Given the description of an element on the screen output the (x, y) to click on. 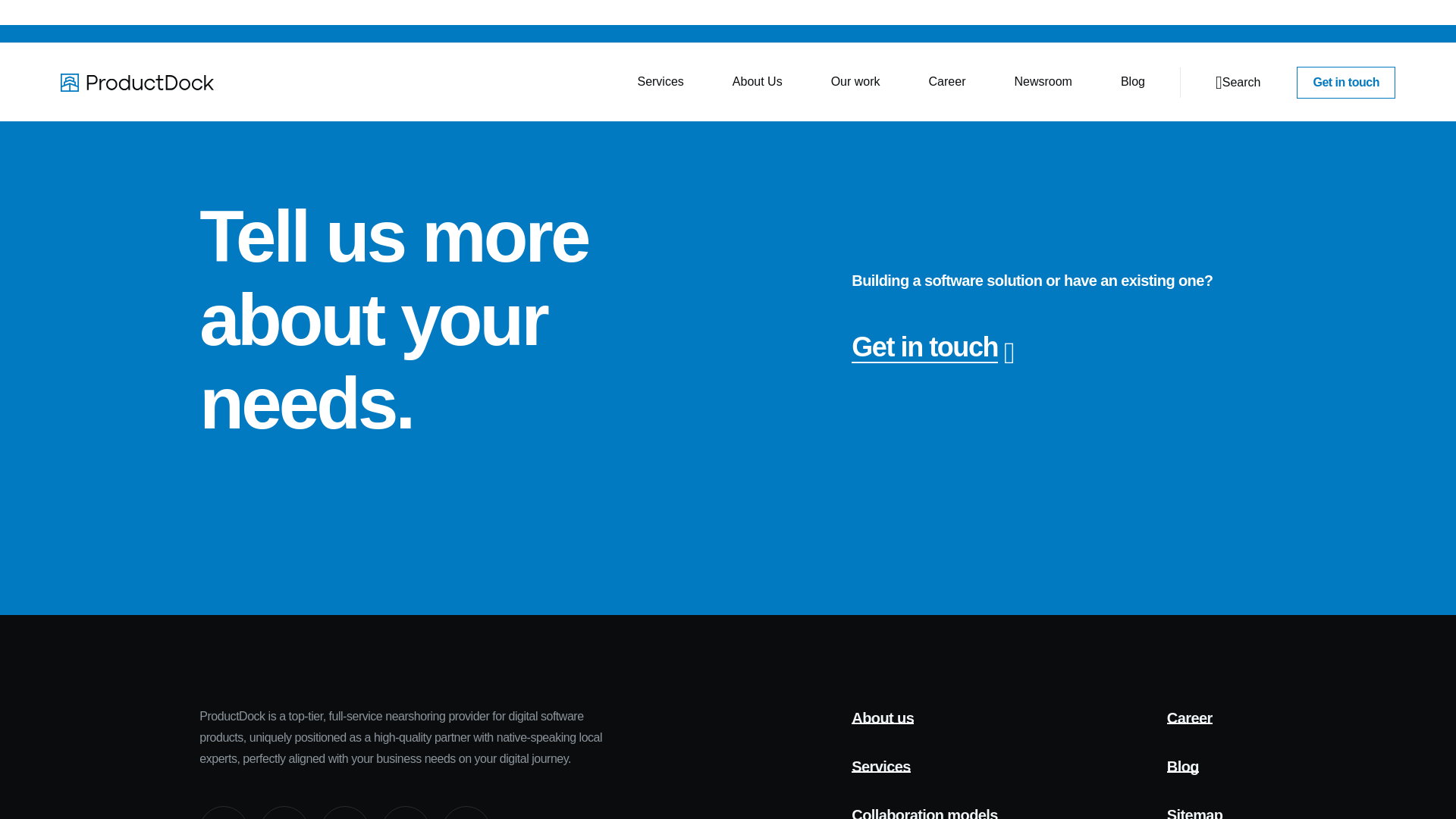
Linkedin (223, 812)
Facebook (466, 812)
Instagram (284, 812)
YouTube (344, 812)
X (405, 812)
